Given the description of an element on the screen output the (x, y) to click on. 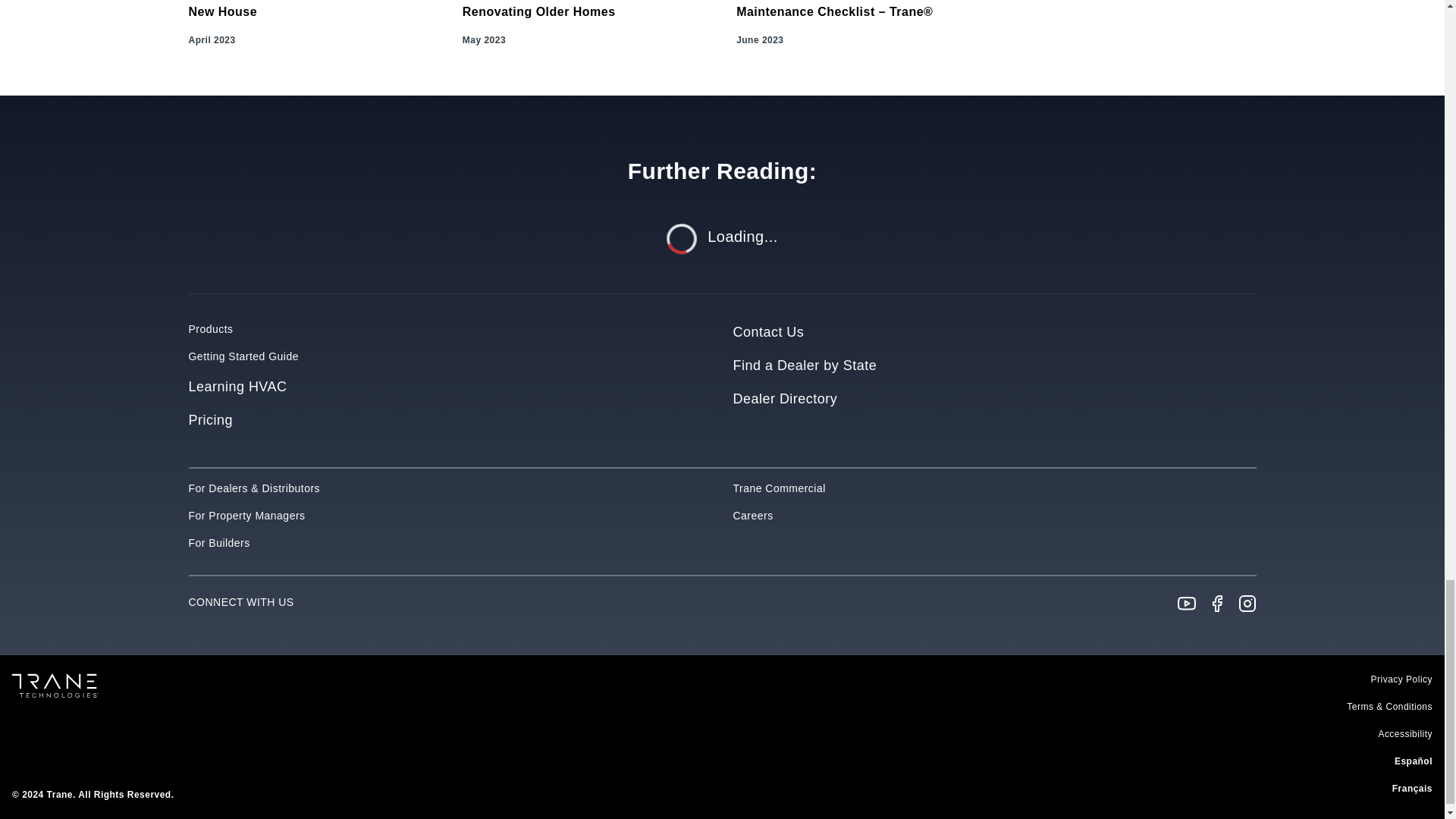
youtube (1185, 603)
instagram (1246, 603)
facebook (1216, 603)
